Given the description of an element on the screen output the (x, y) to click on. 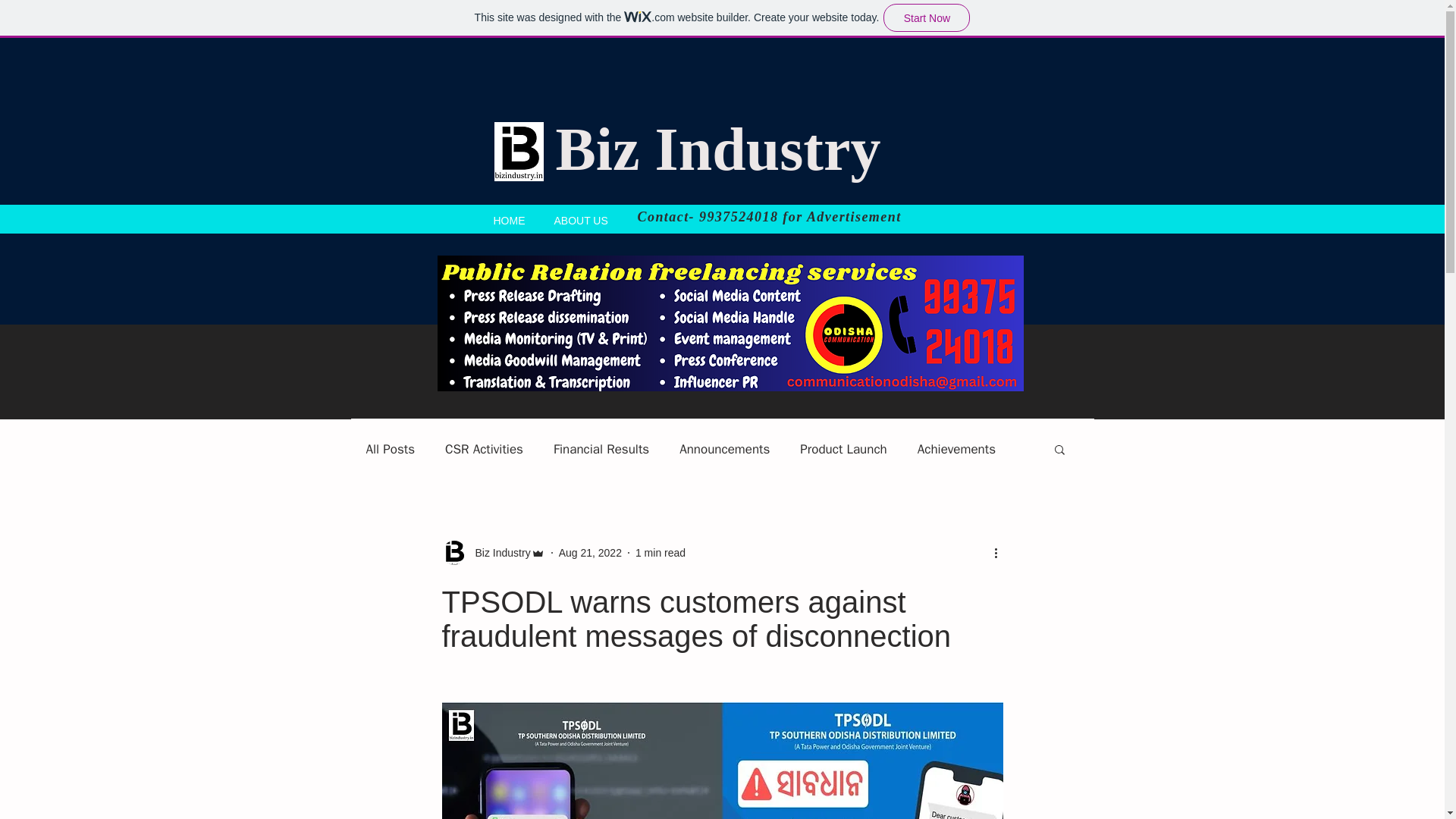
Biz Industry (717, 149)
CSR Activities (483, 448)
Financial Results (601, 448)
Biz Industry (497, 552)
Aug 21, 2022 (590, 551)
Achievements (956, 448)
Announcements (724, 448)
Product Launch (842, 448)
1 min read (659, 551)
All Posts (389, 448)
